Given the description of an element on the screen output the (x, y) to click on. 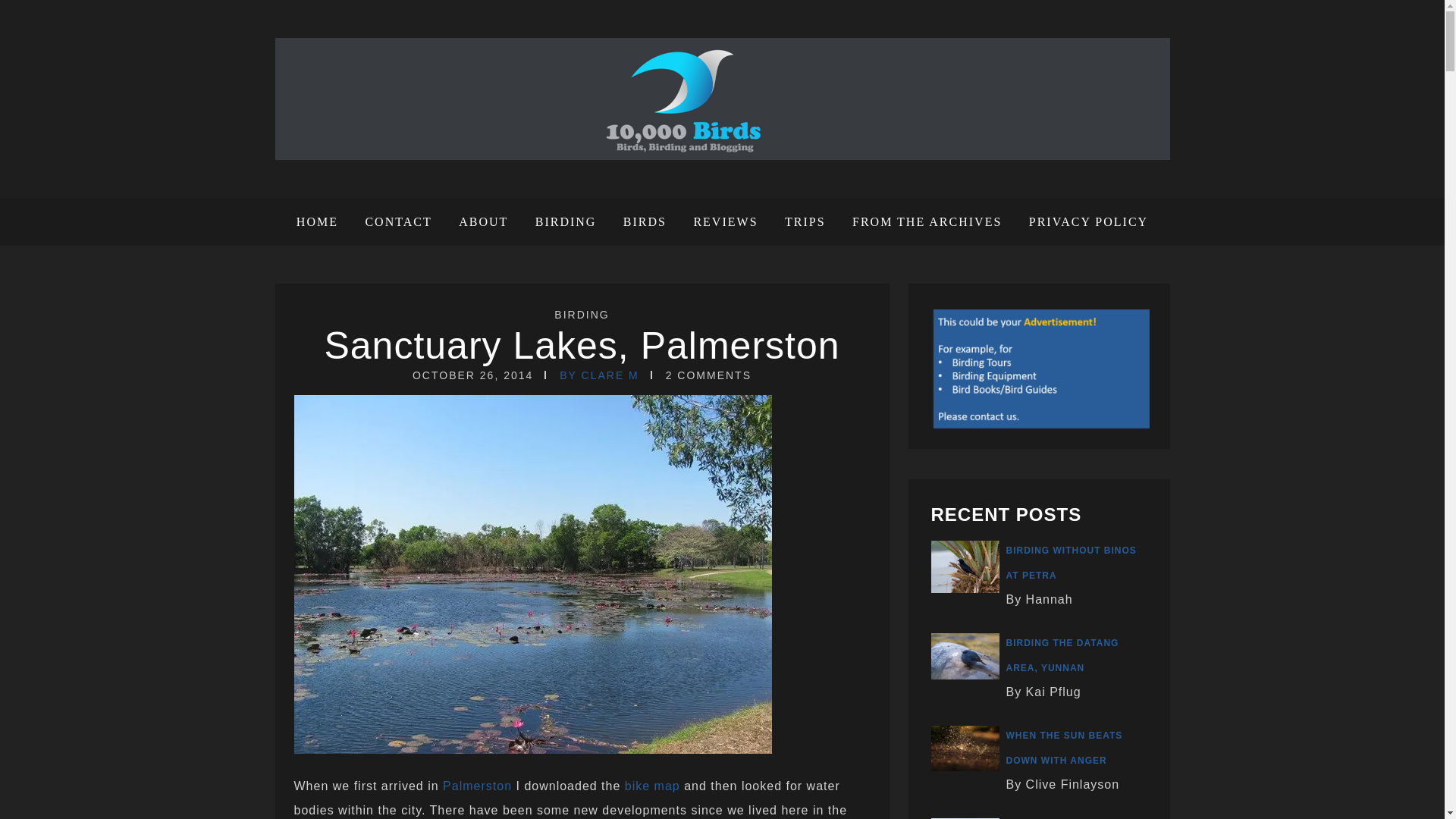
PRIVACY POLICY (1082, 222)
CONTACT (397, 222)
TRIPS (805, 222)
Palmerston (478, 785)
bike map (651, 785)
BIRDS (644, 222)
BY CLARE M (599, 375)
OCTOBER 26, 2014 (472, 375)
FROM THE ARCHIVES (927, 222)
ABOUT (482, 222)
BIRDING (566, 222)
Permanent (581, 345)
HOME (323, 222)
REVIEWS (724, 222)
2 COMMENTS (708, 375)
